Given the description of an element on the screen output the (x, y) to click on. 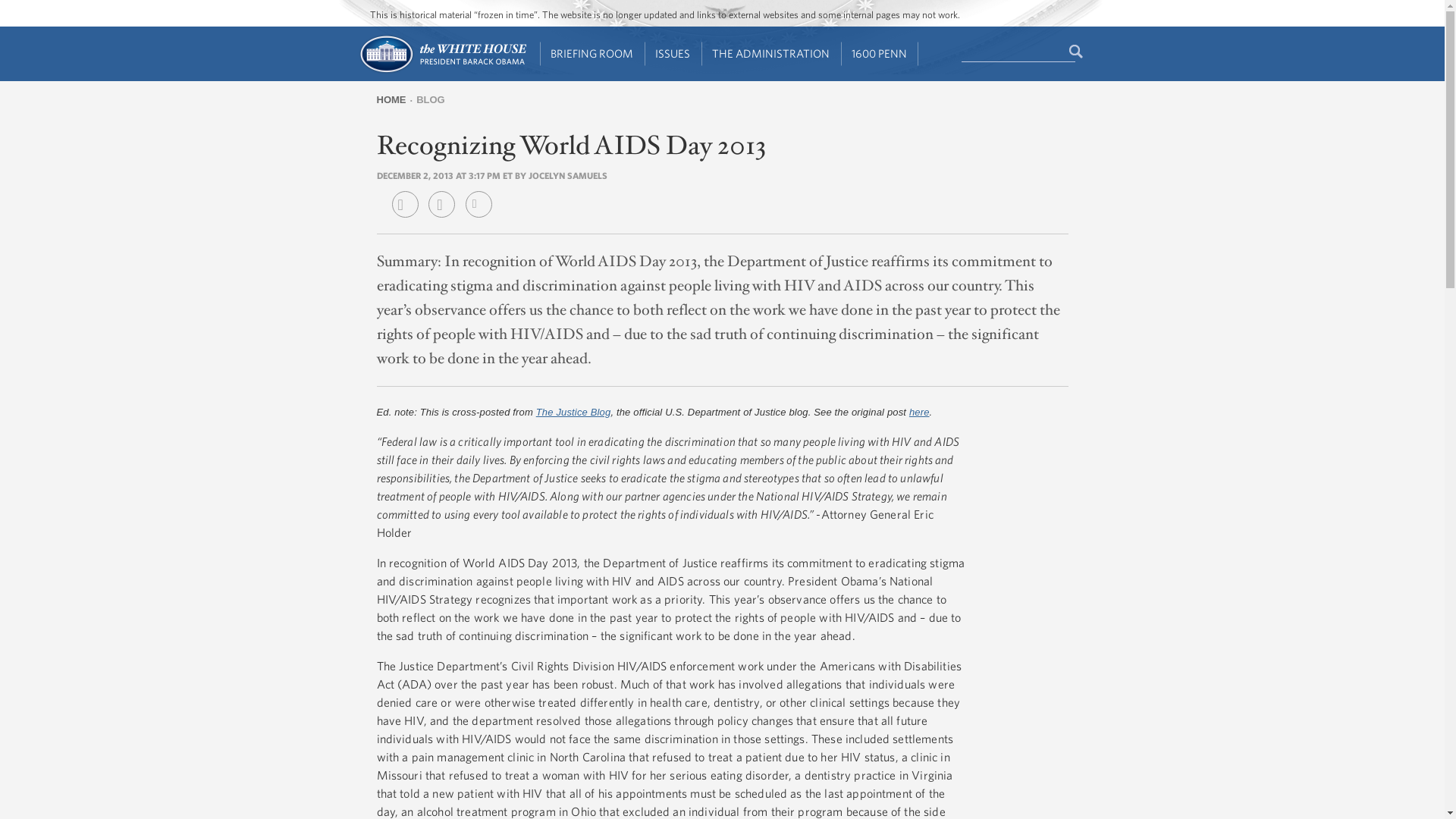
ISSUES (673, 53)
Home (441, 70)
Search (1076, 51)
Enter the terms you wish to search for. (1017, 52)
BRIEFING ROOM (592, 53)
